Given the description of an element on the screen output the (x, y) to click on. 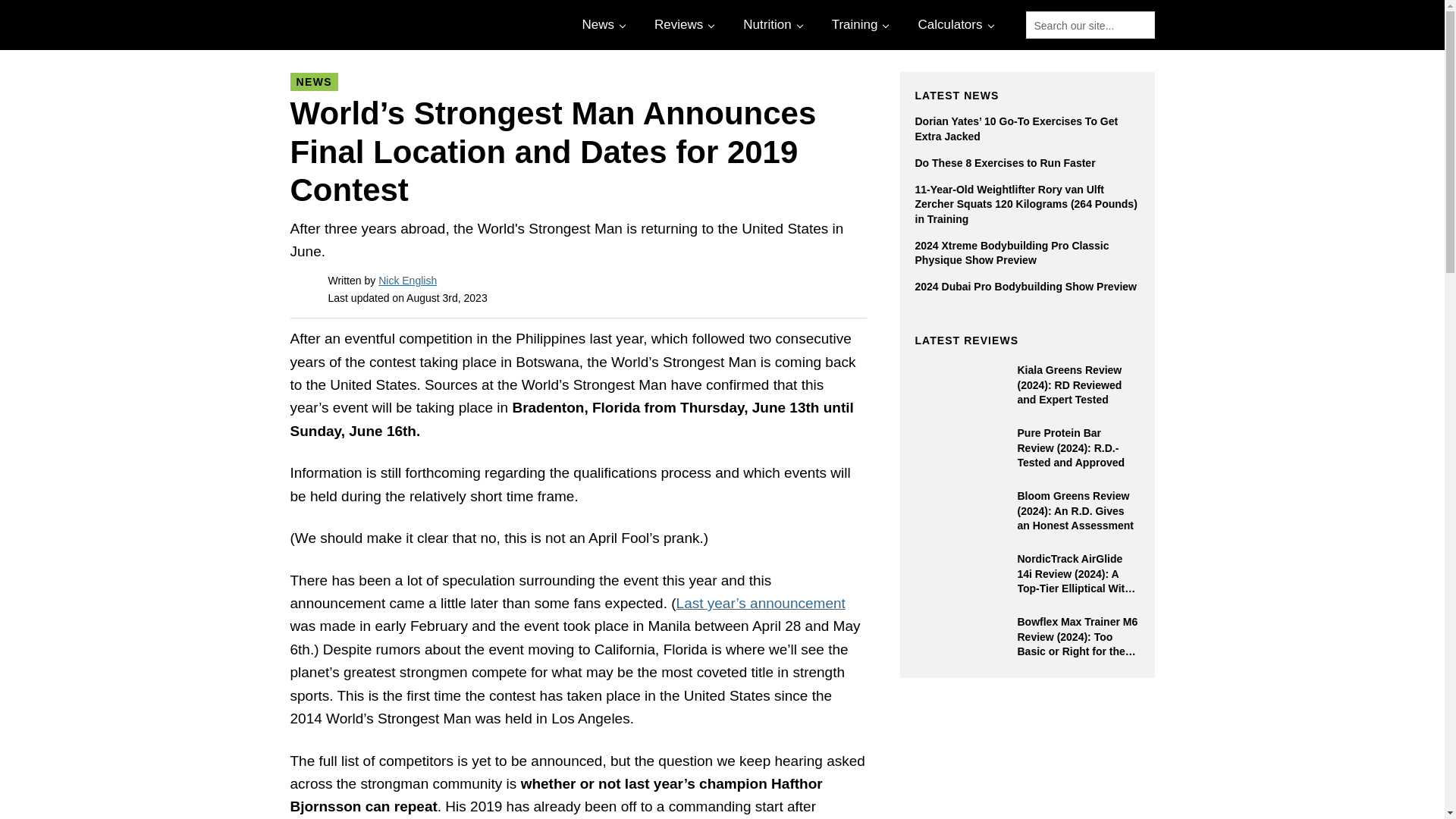
News (602, 24)
Submit search (1138, 25)
Submit search (1138, 25)
Reviews (682, 24)
